Given the description of an element on the screen output the (x, y) to click on. 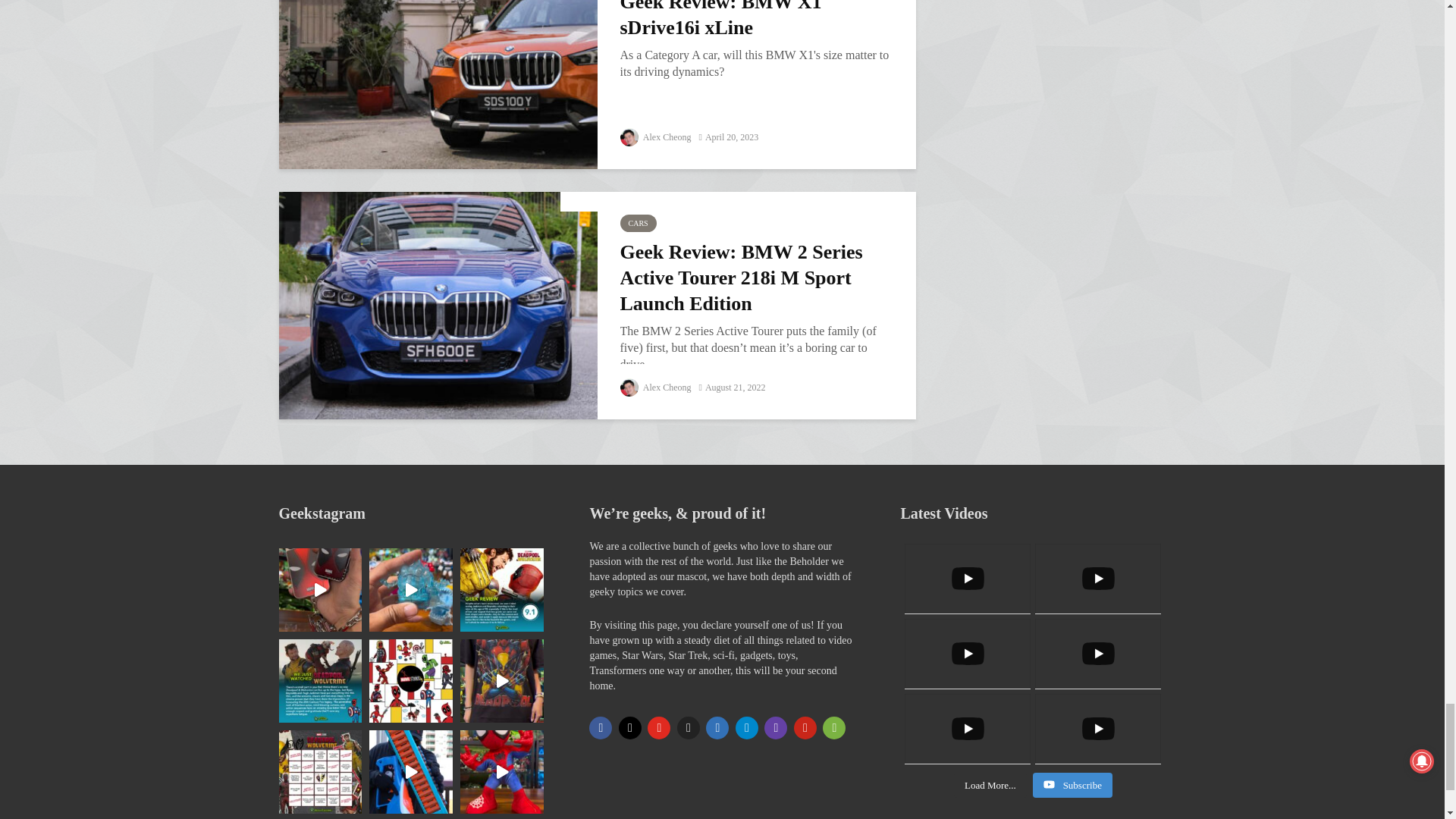
Geek Review: BMW X1 sDrive16i xLine (437, 84)
